Given the description of an element on the screen output the (x, y) to click on. 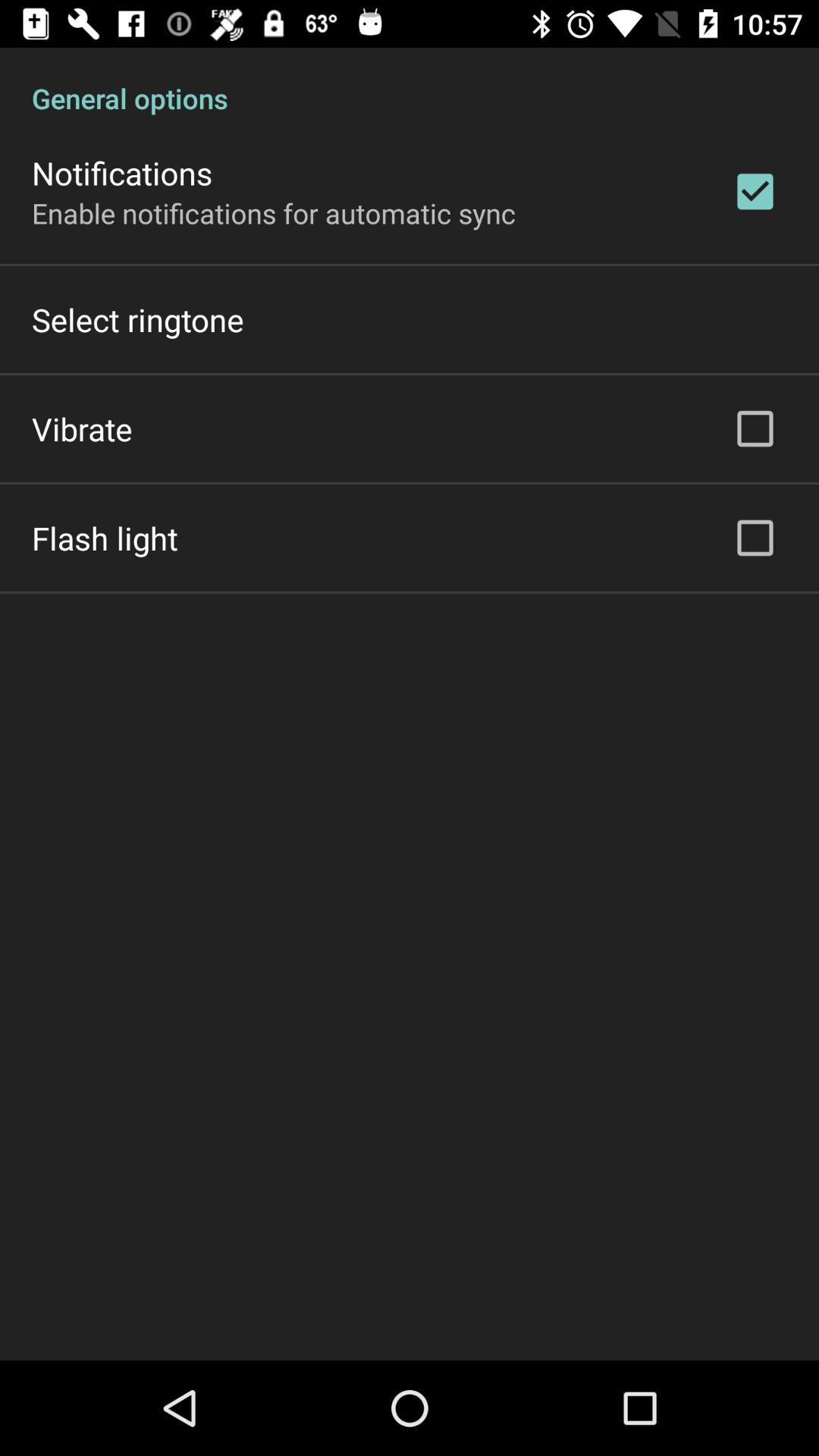
flip to the vibrate (81, 428)
